Given the description of an element on the screen output the (x, y) to click on. 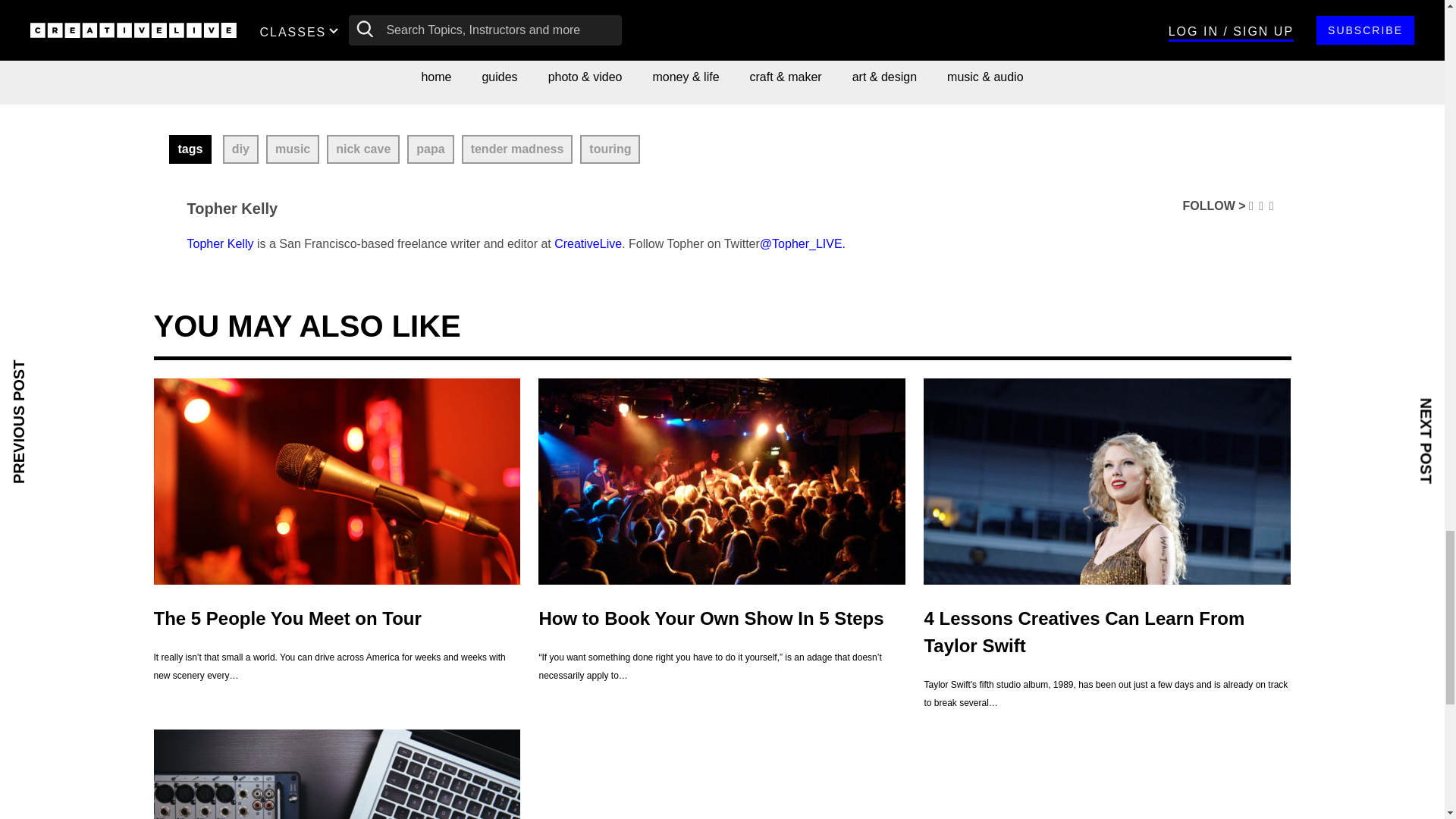
The 5 People You Meet on Tour (335, 481)
How to Book Your Own Show In 5 Steps (721, 481)
4 Lessons Creatives Can Learn From Taylor Swift (1106, 481)
